Given the description of an element on the screen output the (x, y) to click on. 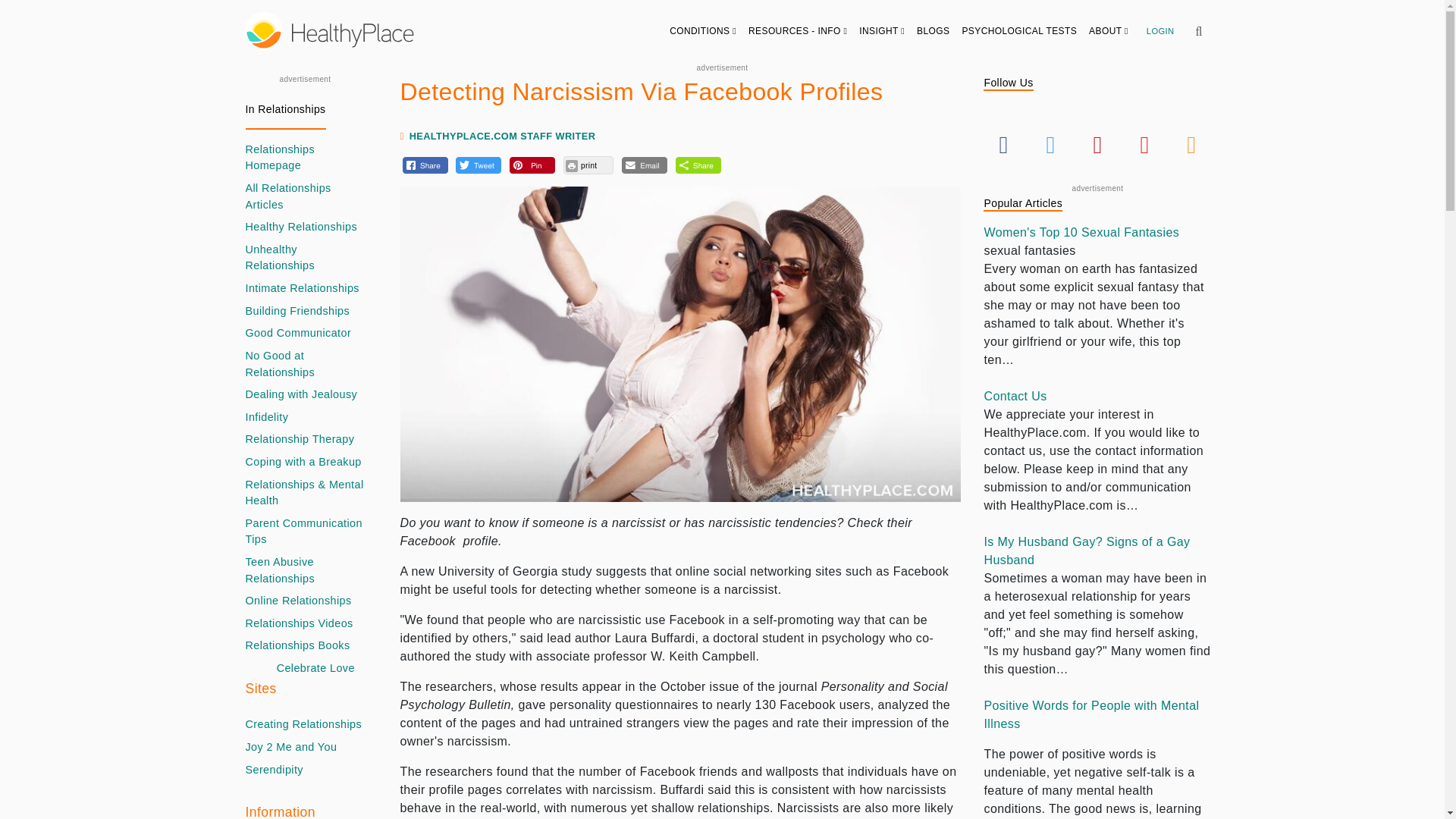
Considering Why You May Be "No Good at Relationships" (305, 364)
INSIGHT (882, 31)
What Constitutes an Unhealthy Relationship? (305, 257)
Coping with a Relationship Breakup (303, 462)
All Relationships Articles on HealthyPlace (305, 157)
Parenting: Communication Tips for Parents (305, 531)
How to Be a Good Communicator in a Relationship (299, 333)
How to Develop Intimate Relationships? (302, 288)
List of all Relationships Articles on HealthyPlace (305, 196)
